Given the description of an element on the screen output the (x, y) to click on. 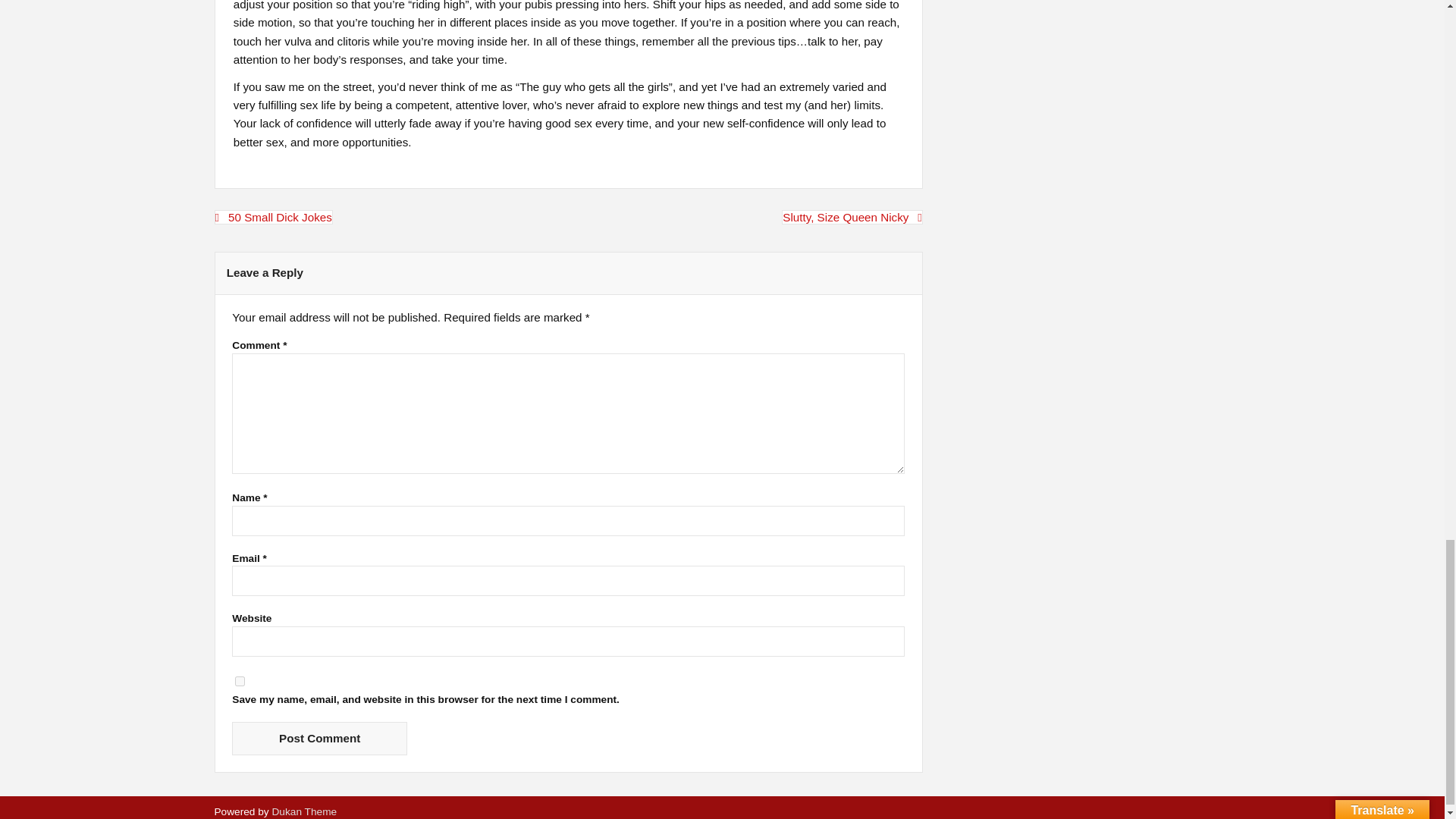
yes (239, 681)
ODude.com (303, 811)
50 Small Dick Jokes (272, 216)
Post Comment (319, 737)
Post Comment (319, 737)
Slutty, Size Queen Nicky (852, 216)
